Given the description of an element on the screen output the (x, y) to click on. 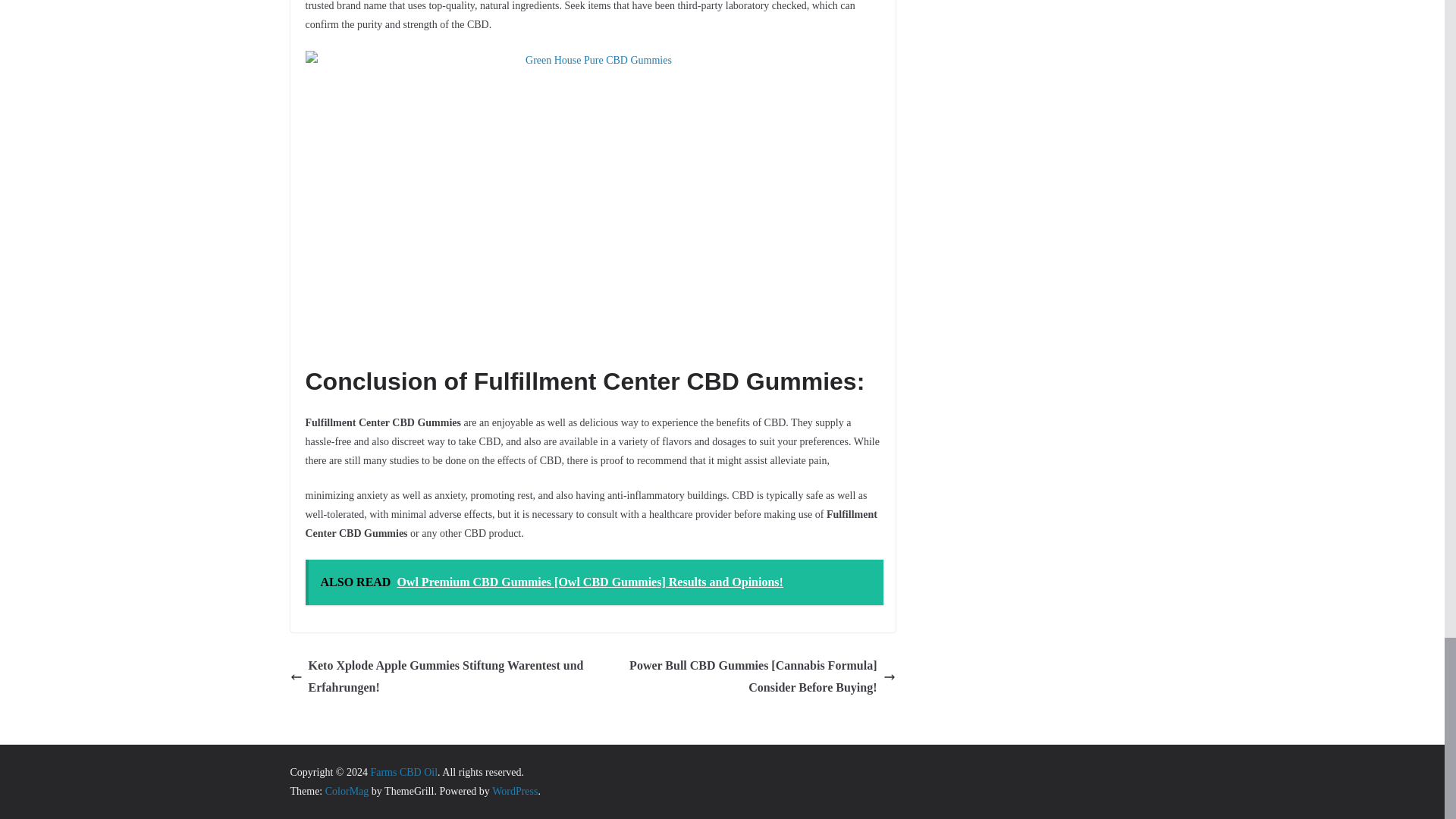
ColorMag (346, 790)
Farms CBD Oil (403, 772)
WordPress (514, 790)
